Given the description of an element on the screen output the (x, y) to click on. 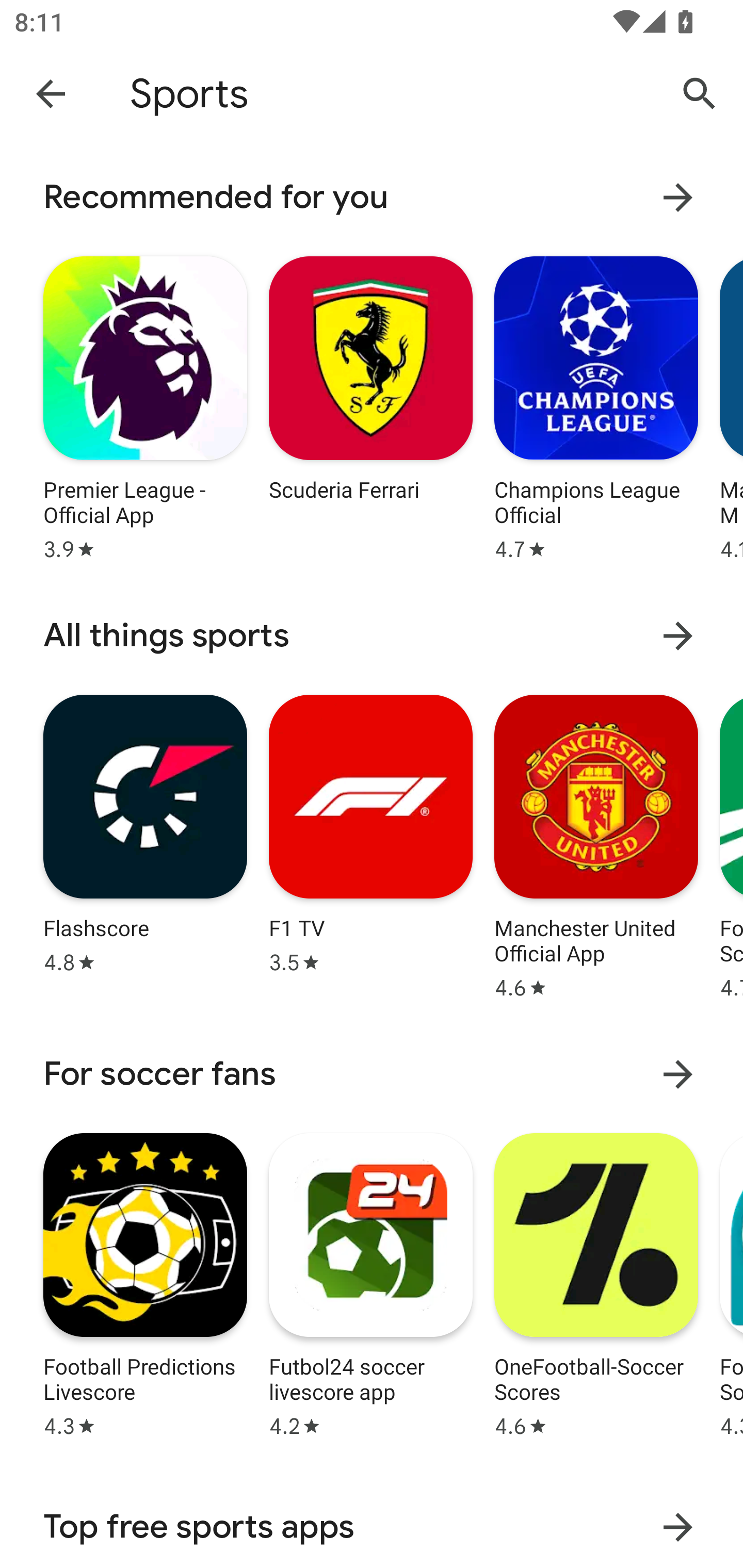
Navigate up (50, 92)
Search Google Play (699, 93)
More results for Recommended for you (677, 197)
App: Scuderia Ferrari


 (370, 405)
App: Champions League Official
Star rating: 4.7


 (595, 405)
More results for All things sports (677, 635)
App: Flashscore
Star rating: 4.8


 (144, 844)
App: F1 TV
Star rating: 3.5


 (370, 844)
For soccer fans
 More results for For soccer fans (371, 1073)
More results for For soccer fans (677, 1074)
App: OneFootball-Soccer Scores
Star rating: 4.6


 (595, 1282)
More results for Top free sports apps (677, 1527)
